Given the description of an element on the screen output the (x, y) to click on. 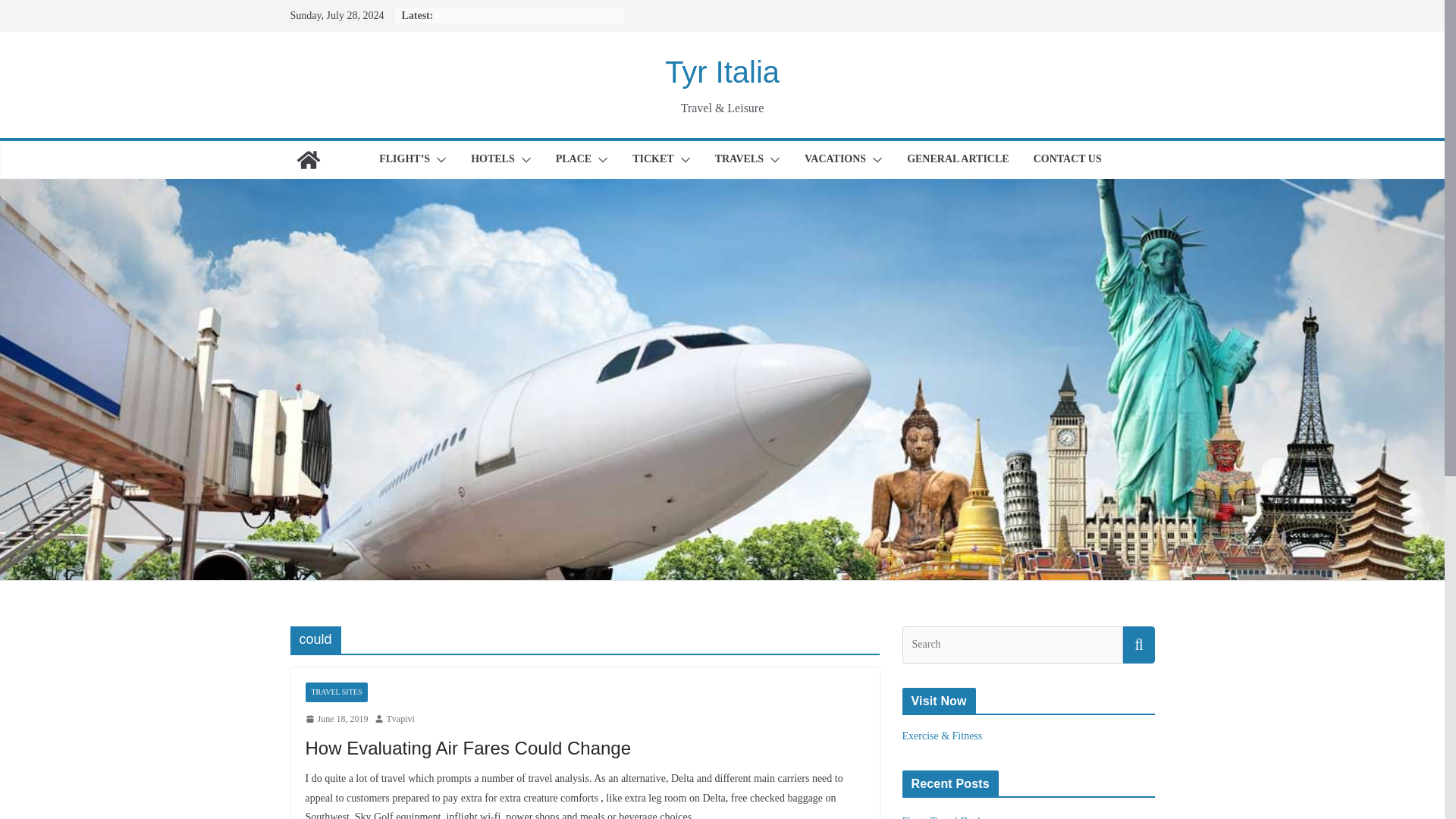
HOTELS (492, 159)
Tvapivi (400, 719)
Tyr Italia (721, 71)
1:03 pm (336, 719)
TRAVEL SITES (336, 691)
TICKET (651, 159)
TRAVELS (738, 159)
CONTACT US (1067, 159)
VACATIONS (835, 159)
GENERAL ARTICLE (958, 159)
Tvapivi (400, 719)
How Evaluating Air Fares Could Change (467, 747)
Tyr Italia (307, 159)
June 18, 2019 (336, 719)
Tyr Italia (721, 71)
